Given the description of an element on the screen output the (x, y) to click on. 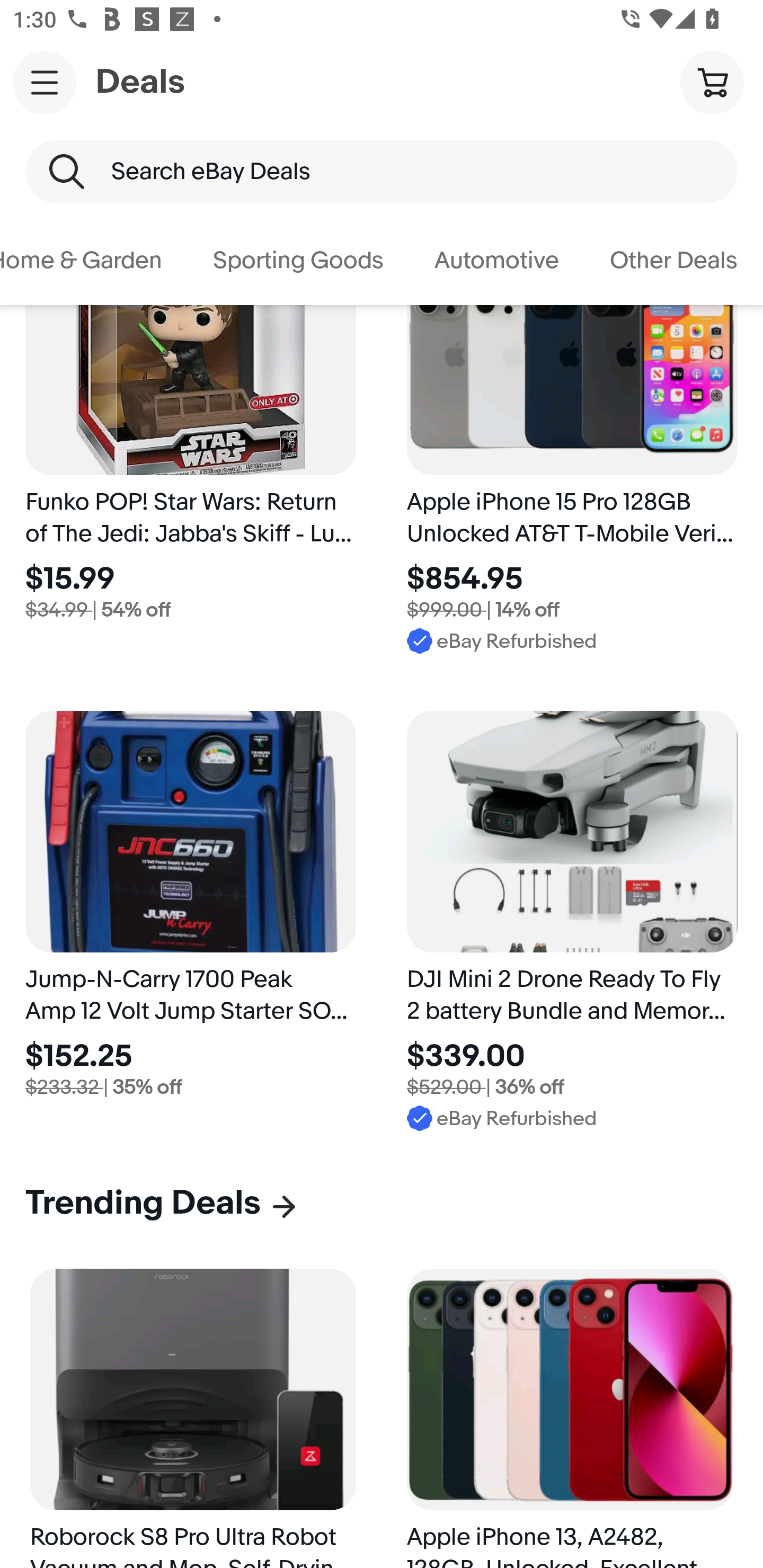
Main navigation, open (44, 82)
Cart button shopping cart (711, 81)
Search eBay Deals Search Keyword Search eBay Deals (381, 171)
Home & Garden. Button. 4 of 7. Home & Garden (93, 260)
Sporting Goods. Button. 5 of 7. Sporting Goods (297, 260)
Automotive. Button. 6 of 7. Automotive (496, 260)
Other Deals. Button. 7 of 7. Other Deals (673, 260)
Trending Deals   Trending Deals,2 items (162, 1203)
